Given the description of an element on the screen output the (x, y) to click on. 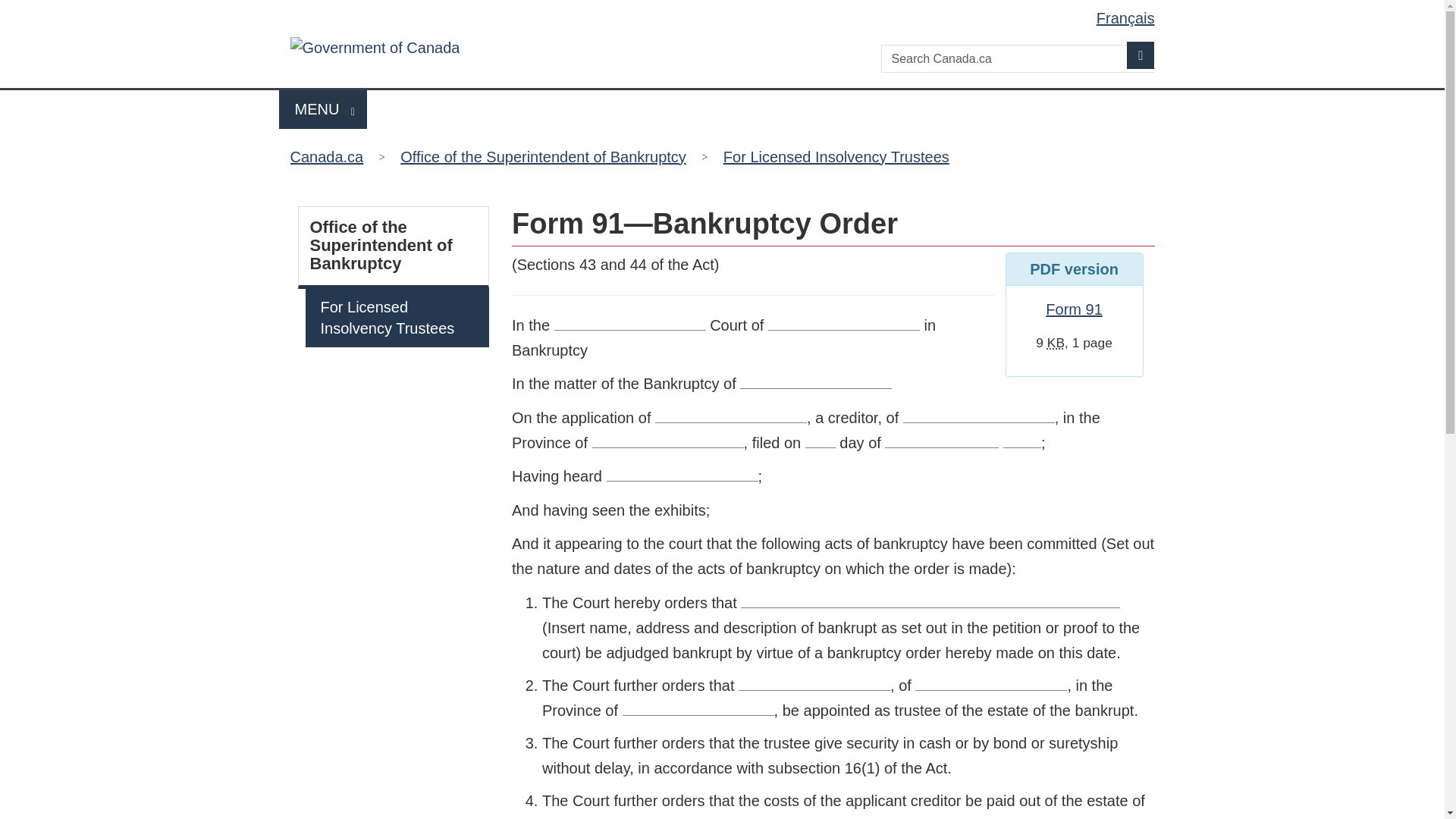
Skip to main content (725, 11)
Form 91 (1073, 309)
Office of the Superintendent of Bankruptcy (543, 156)
For Licensed Insolvency Trustees (396, 318)
Space to insert city or province (844, 326)
Space to insert name of bankrupt (815, 385)
Office of the Superintendent of Bankruptcy (322, 109)
For Licensed Insolvency Trustees (393, 246)
Search (836, 156)
